Given the description of an element on the screen output the (x, y) to click on. 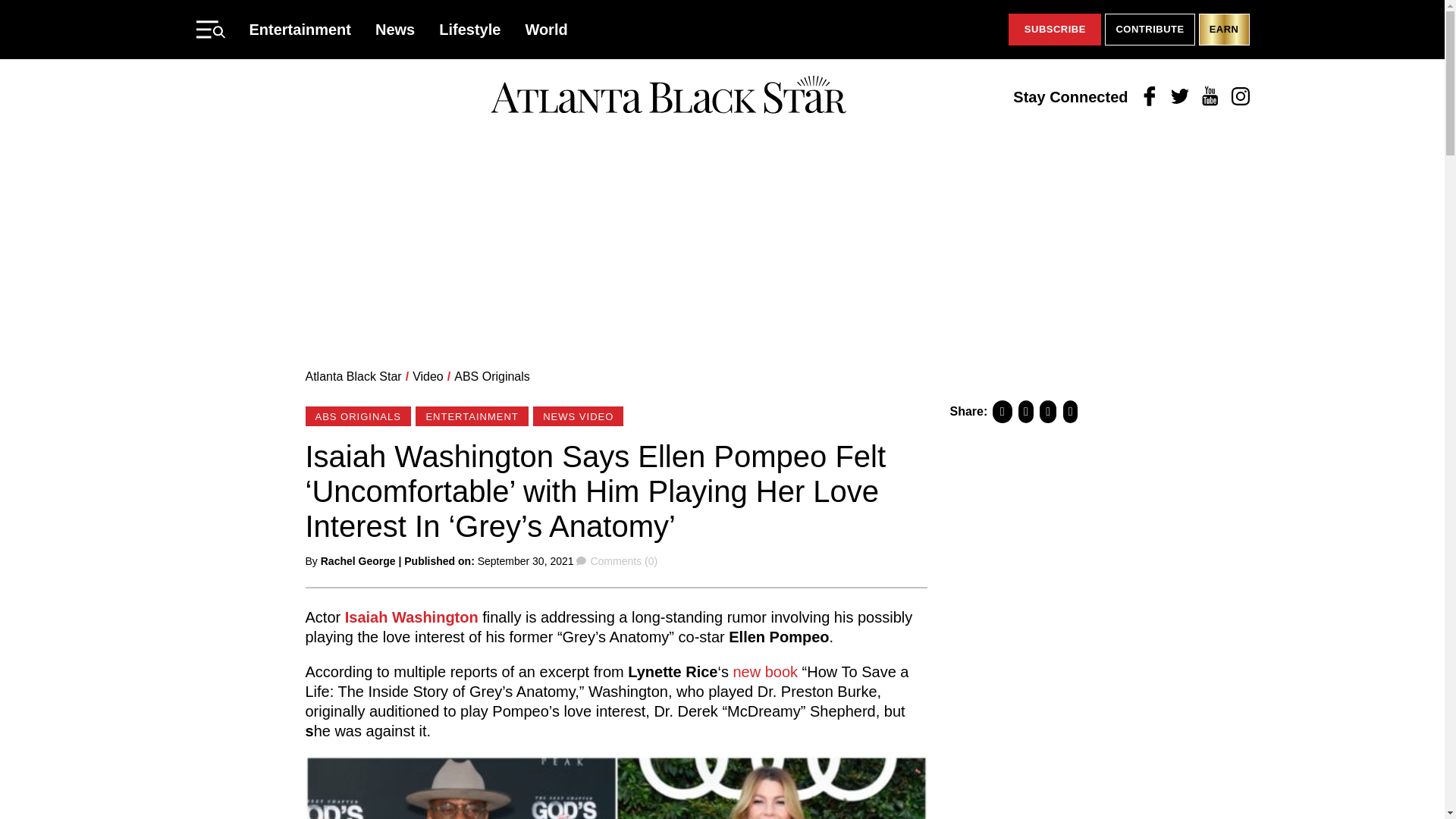
EARN (1223, 29)
News (394, 29)
Go to Atlanta Black Star. (352, 376)
Entertainment (299, 29)
World (545, 29)
Video (428, 376)
Go to the Video Category archives. (428, 376)
CONTRIBUTE (1149, 29)
Atlanta Black Star (352, 376)
SUBSCRIBE (1054, 29)
Atlanta Black Star (667, 96)
Go to the ABS Originals Category archives. (491, 376)
Lifestyle (469, 29)
